Given the description of an element on the screen output the (x, y) to click on. 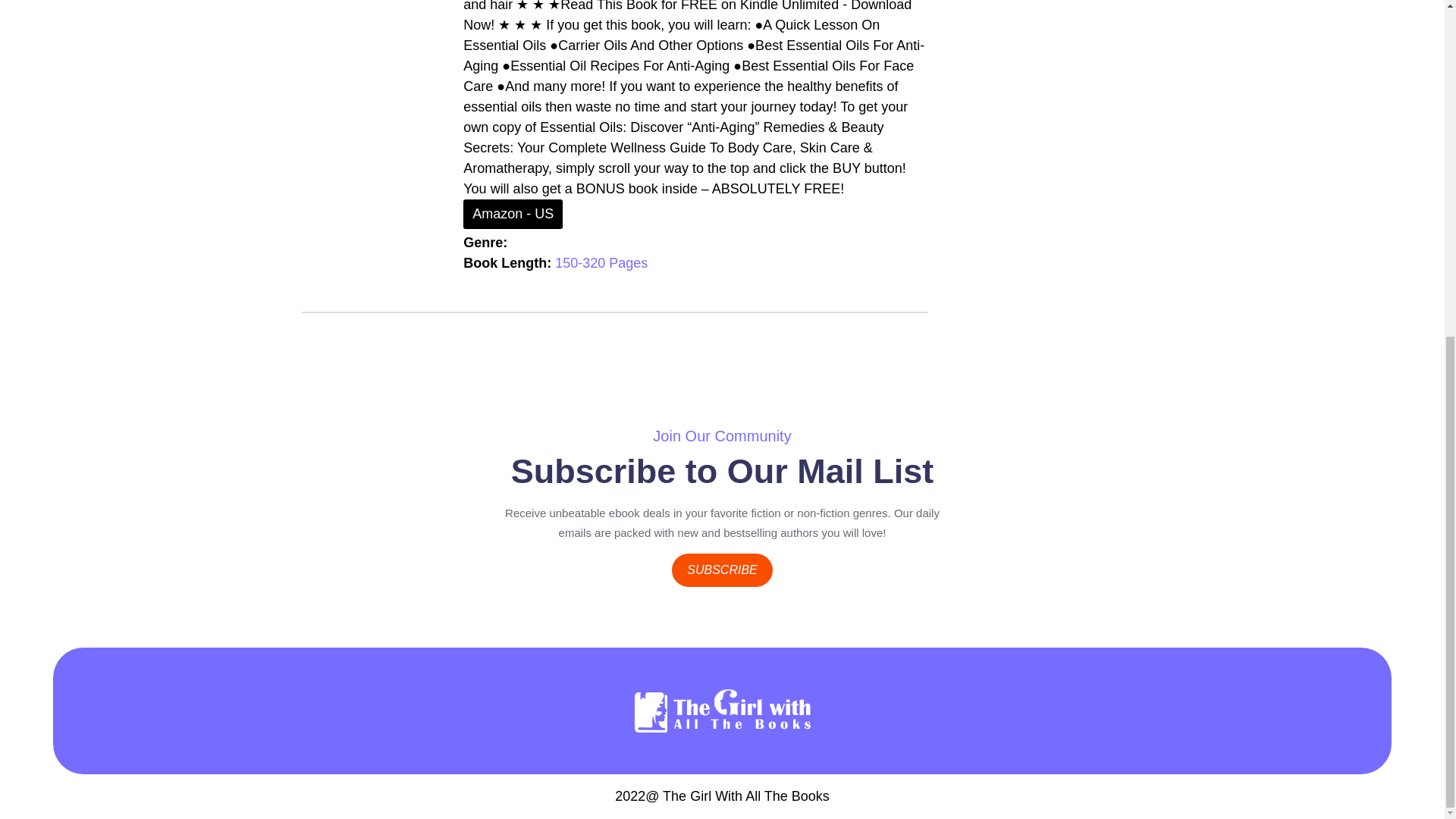
Amazon - US (512, 214)
SUBSCRIBE (721, 570)
150-320 Pages (600, 263)
